Given the description of an element on the screen output the (x, y) to click on. 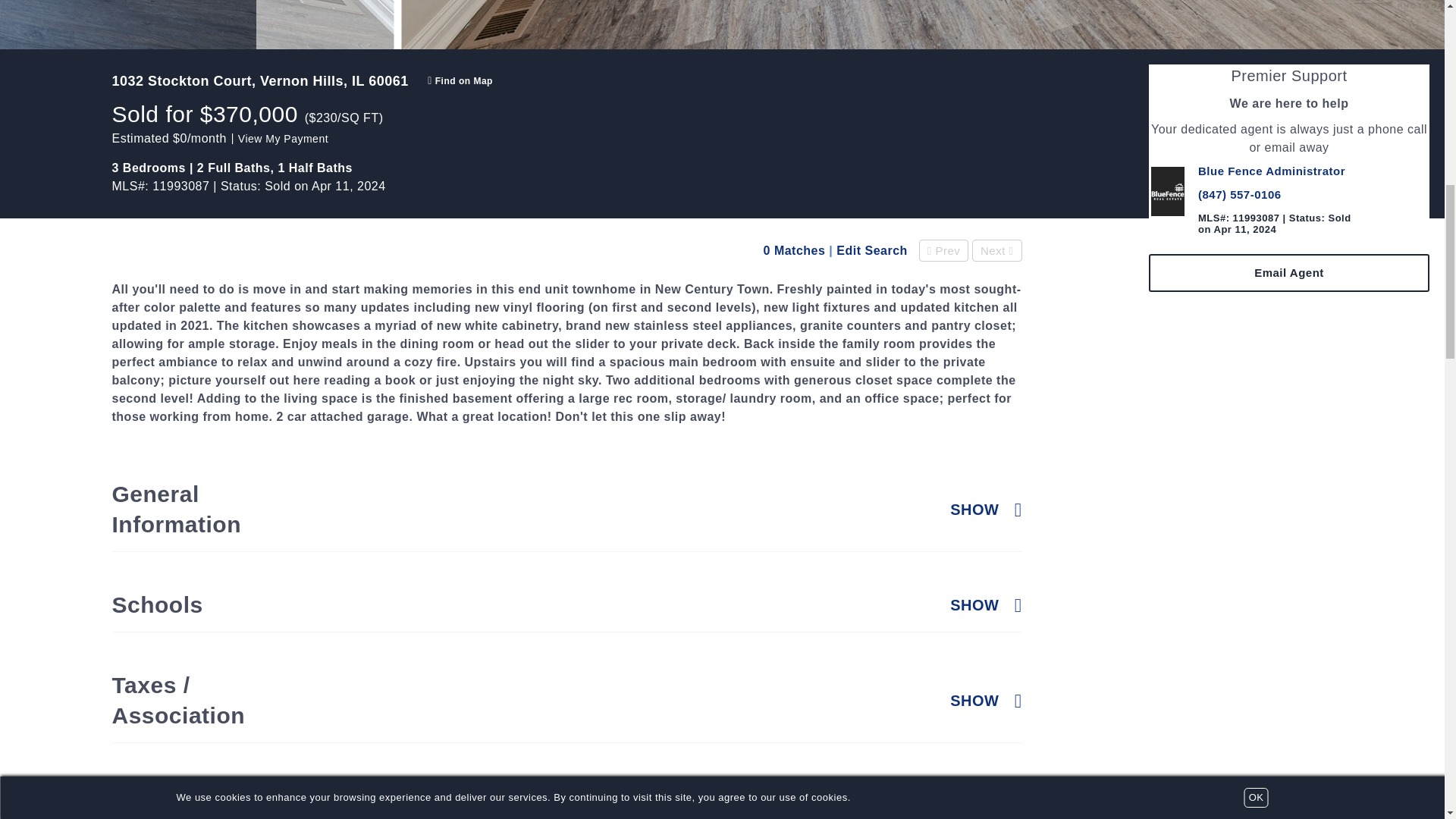
click to zoom-in (928, 24)
click to zoom-in (196, 24)
